Given the description of an element on the screen output the (x, y) to click on. 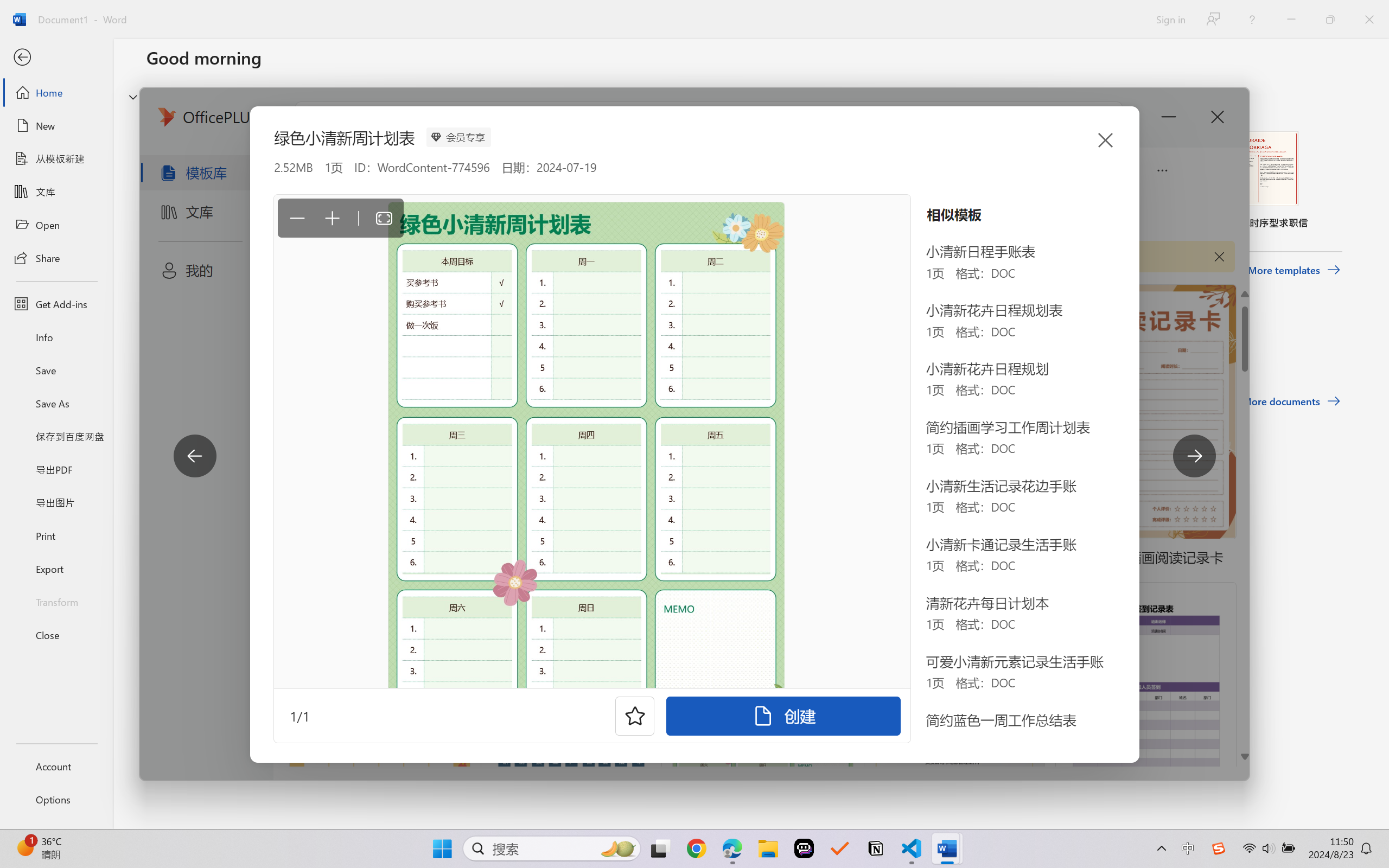
New (56, 125)
Get Add-ins (56, 303)
Options (56, 798)
Export (56, 568)
